Given the description of an element on the screen output the (x, y) to click on. 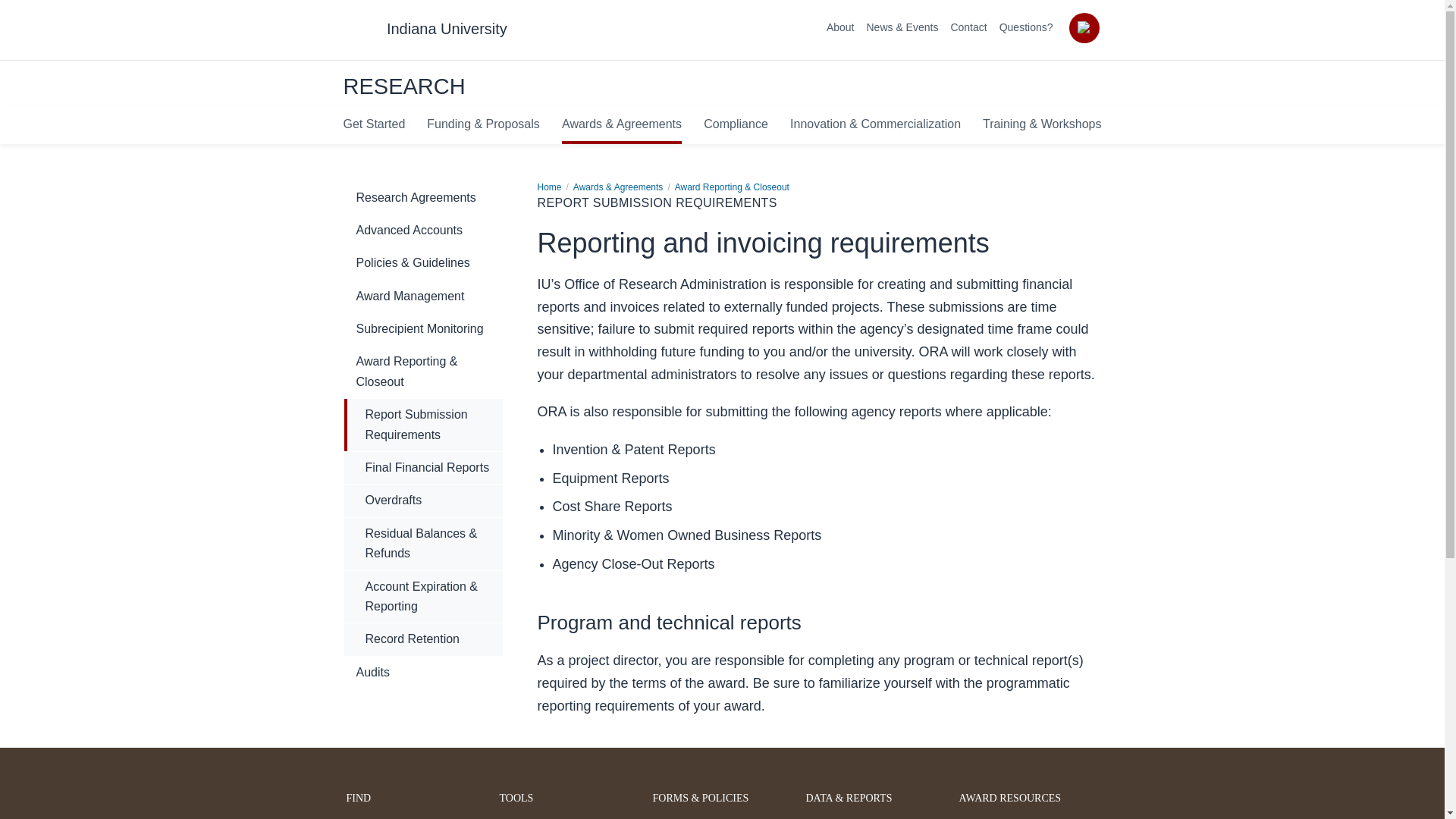
Indiana University (446, 28)
Indiana University (446, 28)
